Given the description of an element on the screen output the (x, y) to click on. 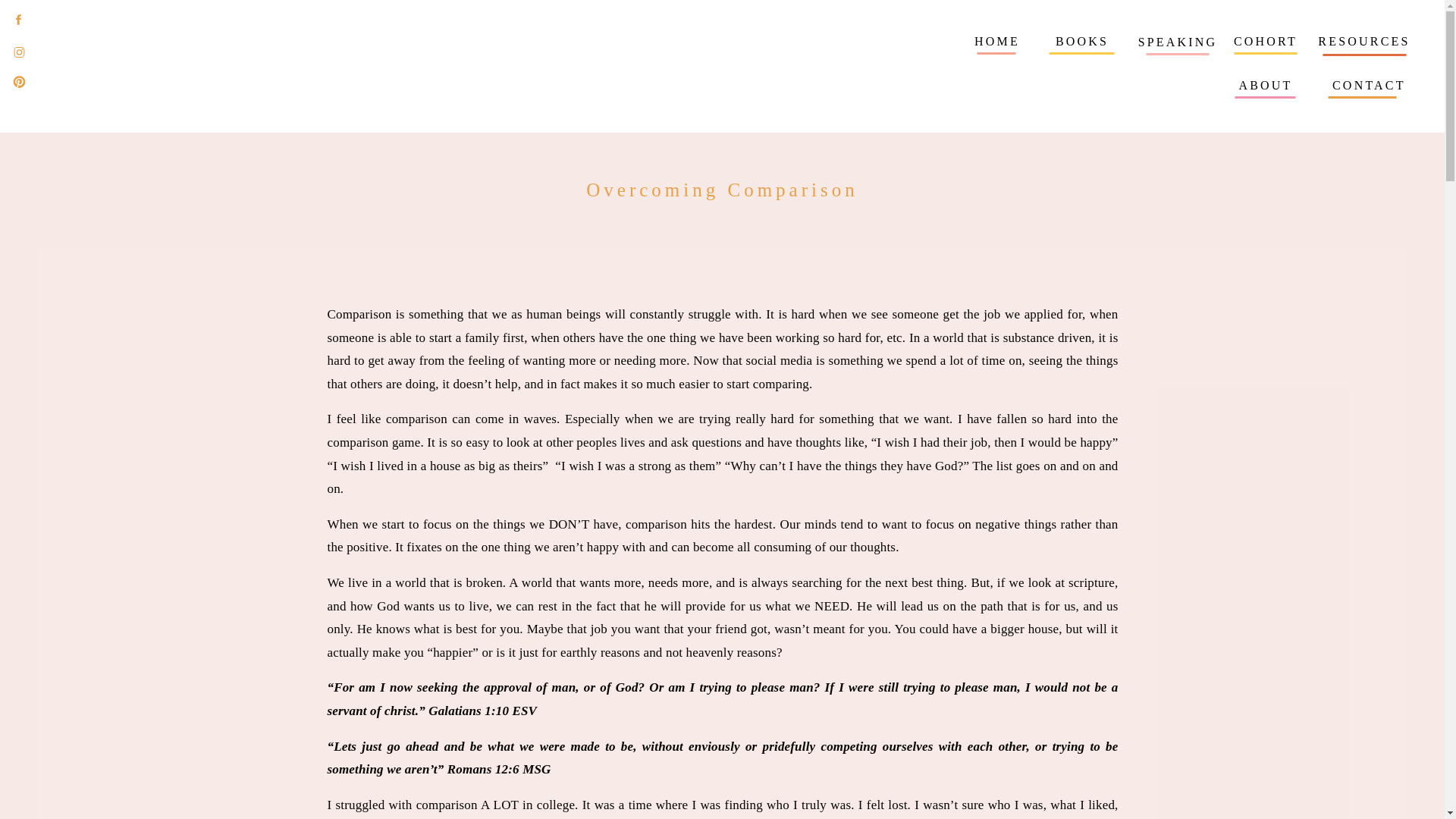
SPEAKING (1177, 42)
RESOURCES (1364, 42)
CONTACT (1364, 86)
BOOKS (1081, 42)
HOME (997, 42)
ABOUT (1265, 86)
COHORT (1265, 42)
